Given the description of an element on the screen output the (x, y) to click on. 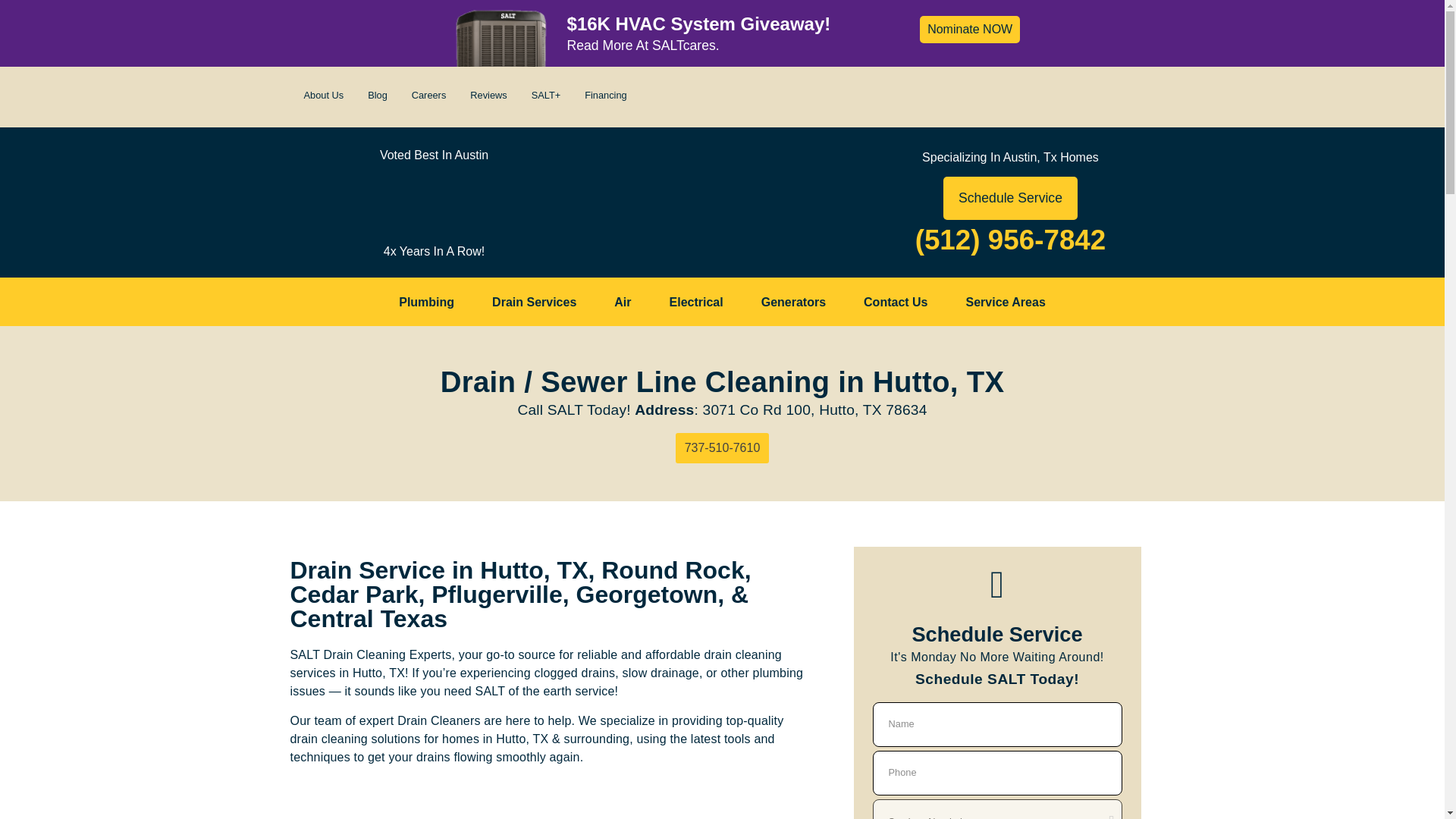
Reviews (488, 95)
Drain Services (534, 302)
Nominate NOW (970, 29)
Schedule Service (1010, 198)
About Us (323, 95)
Careers (429, 95)
Air (622, 302)
Financing (605, 95)
Blog (377, 95)
Plumbing (426, 302)
